Given the description of an element on the screen output the (x, y) to click on. 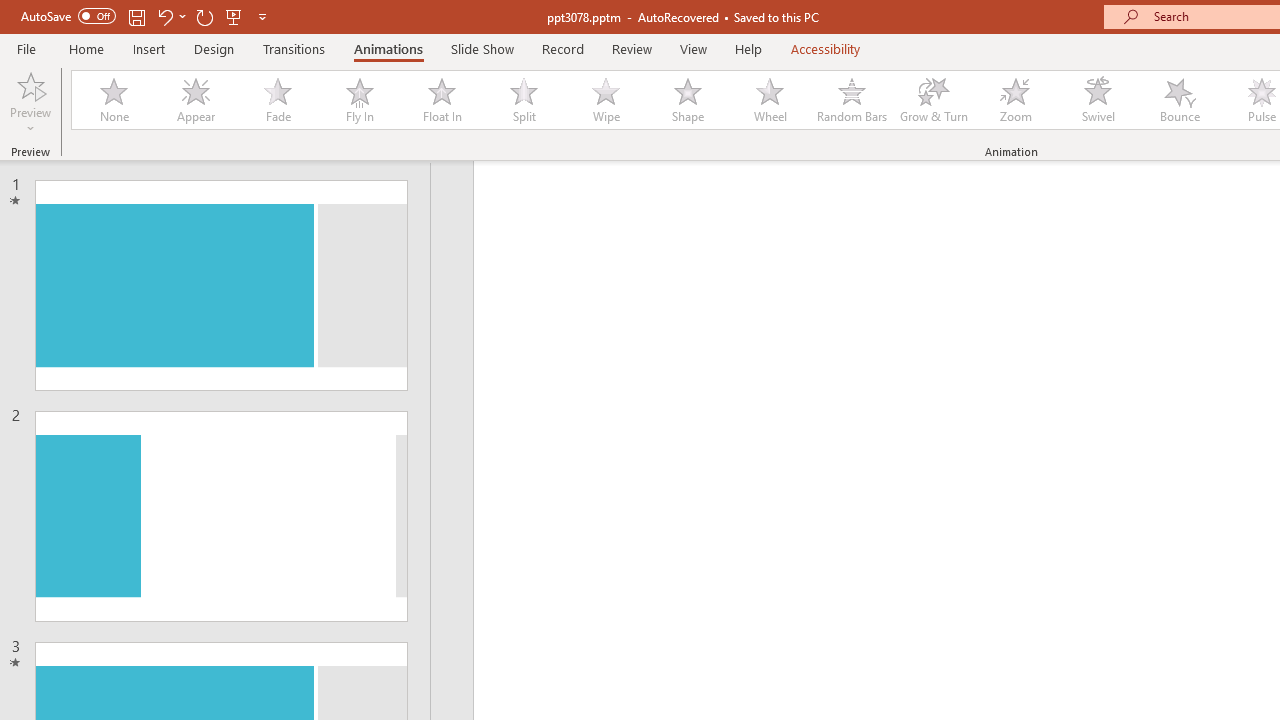
None (113, 100)
Wipe (605, 100)
Random Bars (852, 100)
Fade (277, 100)
Wheel (770, 100)
Swivel (1098, 100)
